Given the description of an element on the screen output the (x, y) to click on. 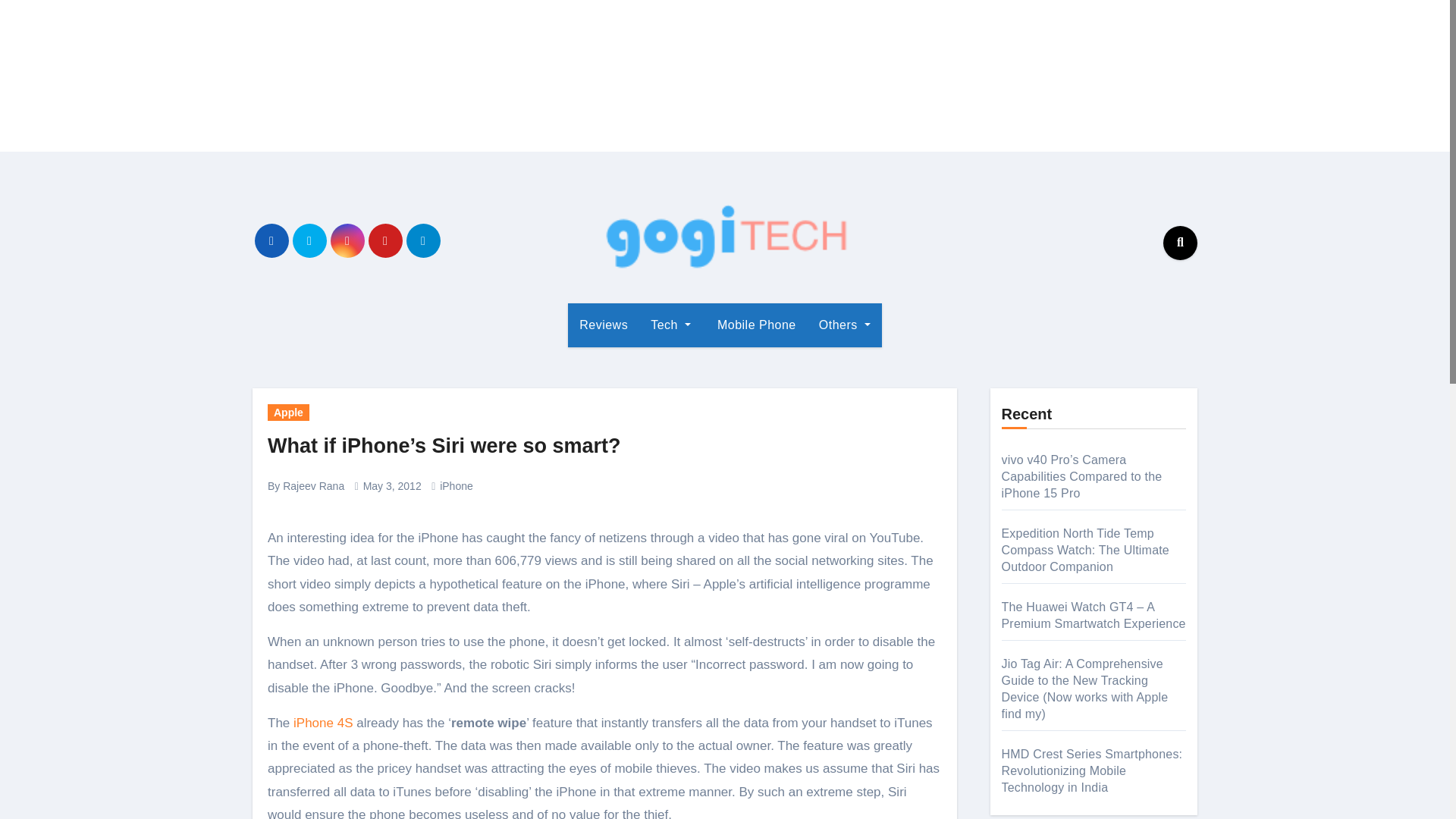
Others (845, 325)
Apple (287, 412)
Reviews (603, 325)
Others (845, 325)
By Rajeev Rana (305, 485)
Mobile Phone Section (754, 325)
 Mobile Phone (754, 325)
Tech (670, 325)
Tech (670, 325)
Reviews (603, 325)
